Given the description of an element on the screen output the (x, y) to click on. 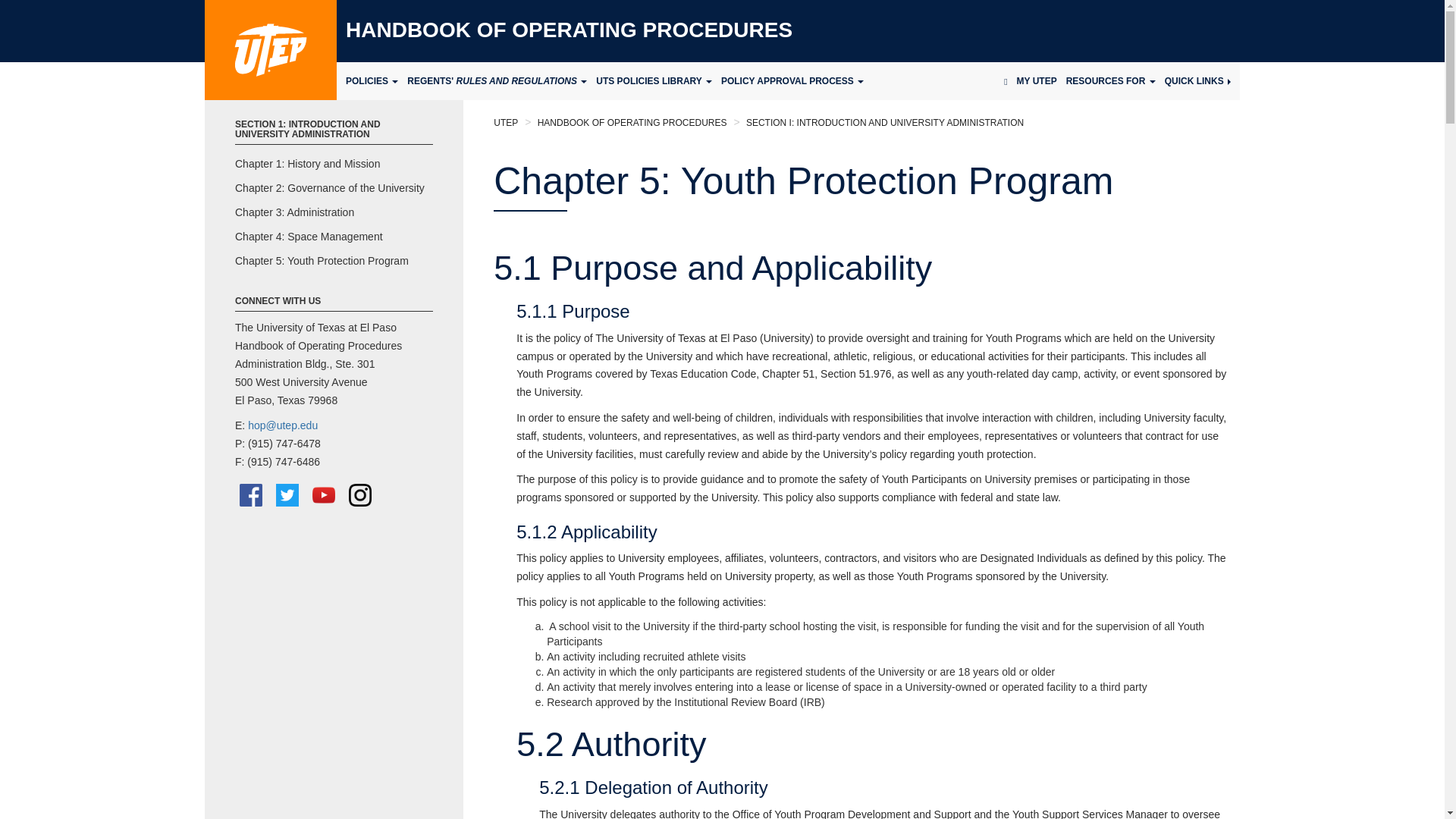
Search pages and people (1005, 80)
REGENTS' RULES AND REGULATIONS (491, 80)
QUICK LINKS (1202, 80)
youtube (323, 495)
RESOURCES FOR (1114, 80)
instagram (360, 495)
UTEP (270, 49)
POLICY APPROVAL PROCESS (787, 80)
POLICIES (366, 80)
MY UTEP (1040, 80)
SEARCH PAGES AND PEOPLE (1005, 80)
twitter (287, 495)
UTS POLICIES LIBRARY (648, 80)
facebook (251, 495)
